Given the description of an element on the screen output the (x, y) to click on. 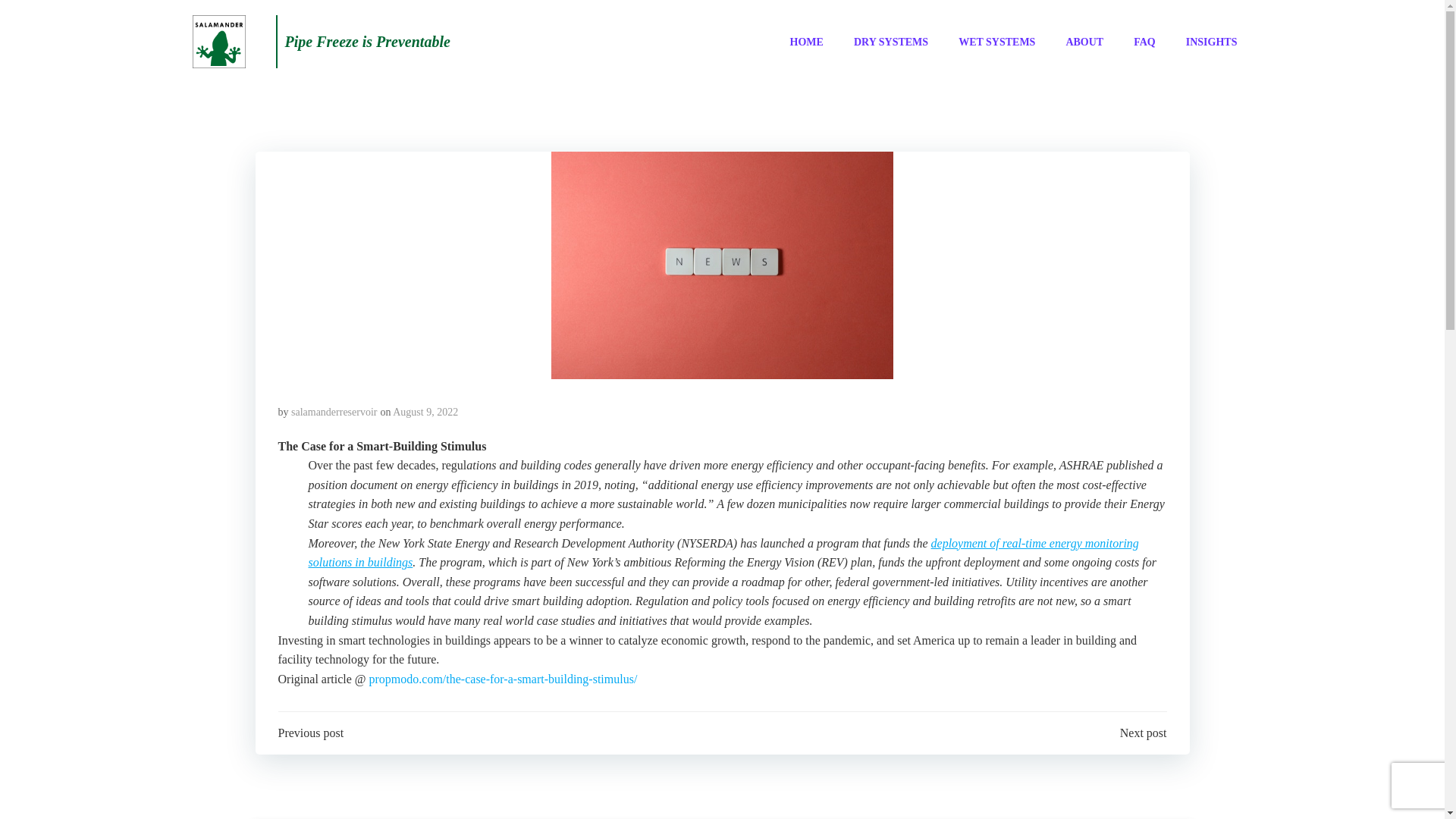
August 9, 2022 (425, 411)
Previous post (310, 732)
Next post (1143, 732)
ABOUT (1084, 41)
WET SYSTEMS (996, 41)
INSIGHTS (1211, 41)
salamanderreservoir (334, 411)
FAQ (1145, 41)
HOME (807, 41)
